Given the description of an element on the screen output the (x, y) to click on. 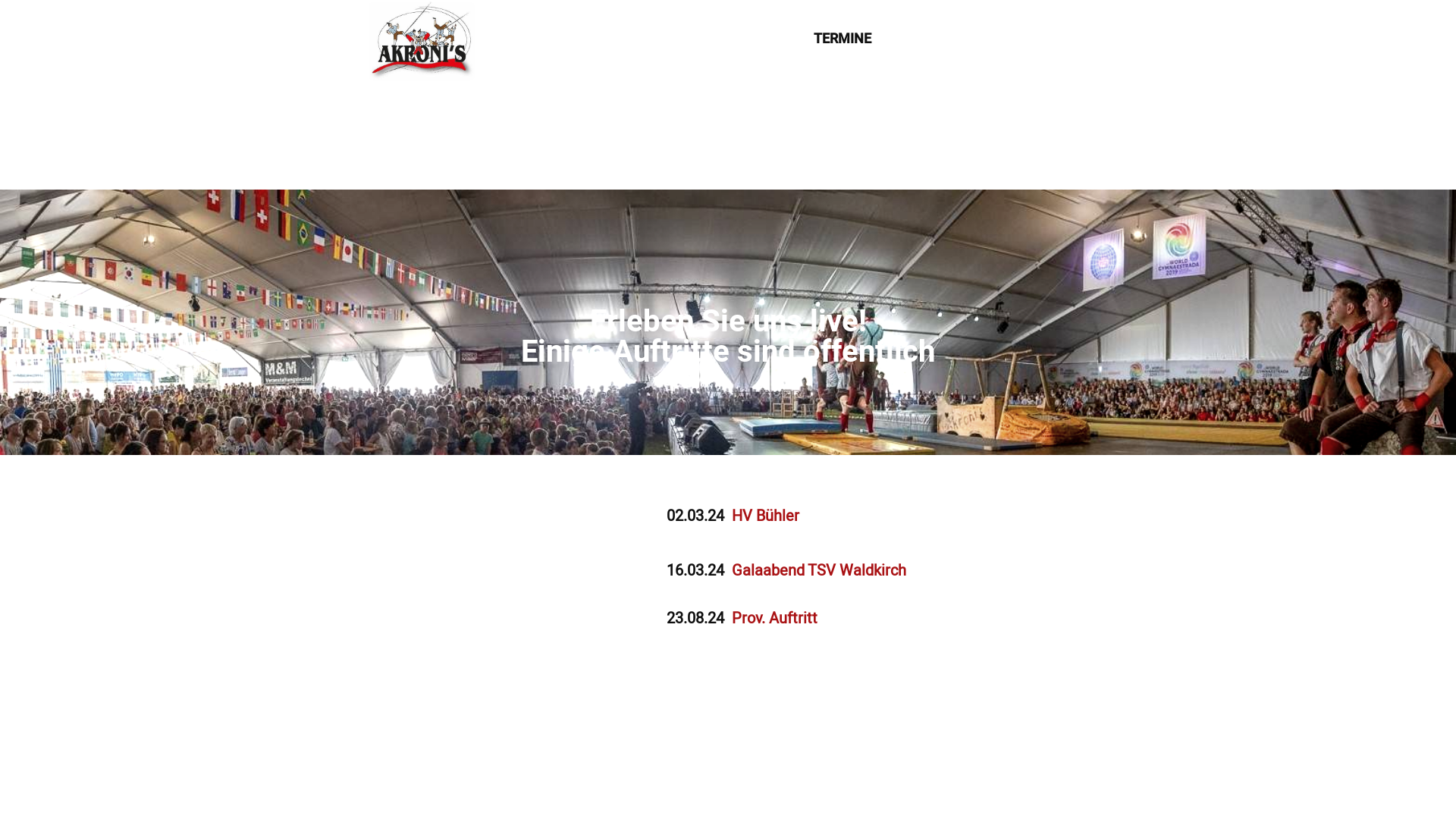
GALERIE & SPONSOREN Element type: text (714, 39)
TERMINE Element type: text (842, 39)
TEAM Element type: text (597, 39)
KONTAKT & DOWNLOAD Element type: text (971, 39)
HOME Element type: text (534, 39)
